Given the description of an element on the screen output the (x, y) to click on. 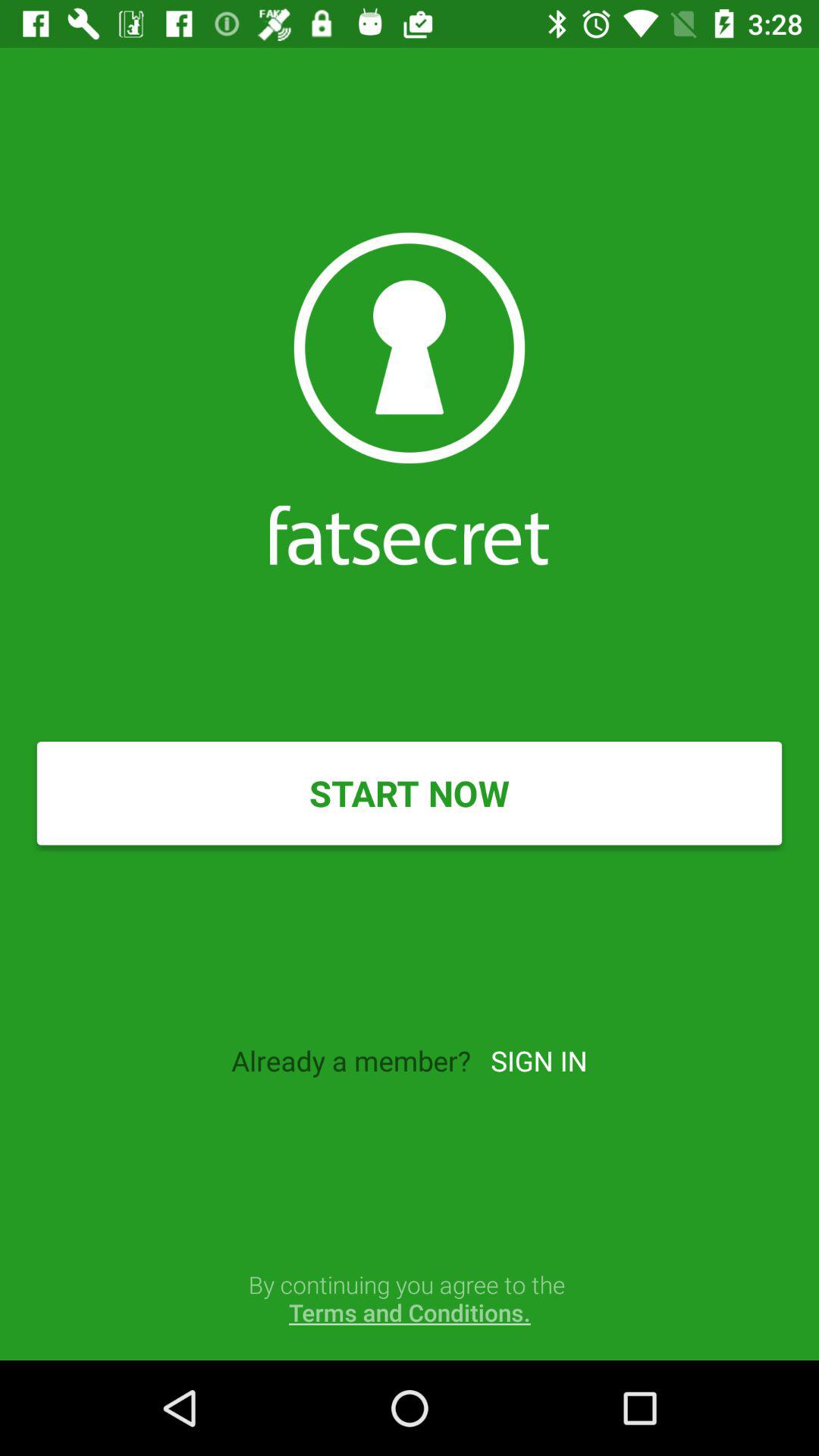
press icon next to already a member? (538, 1060)
